Given the description of an element on the screen output the (x, y) to click on. 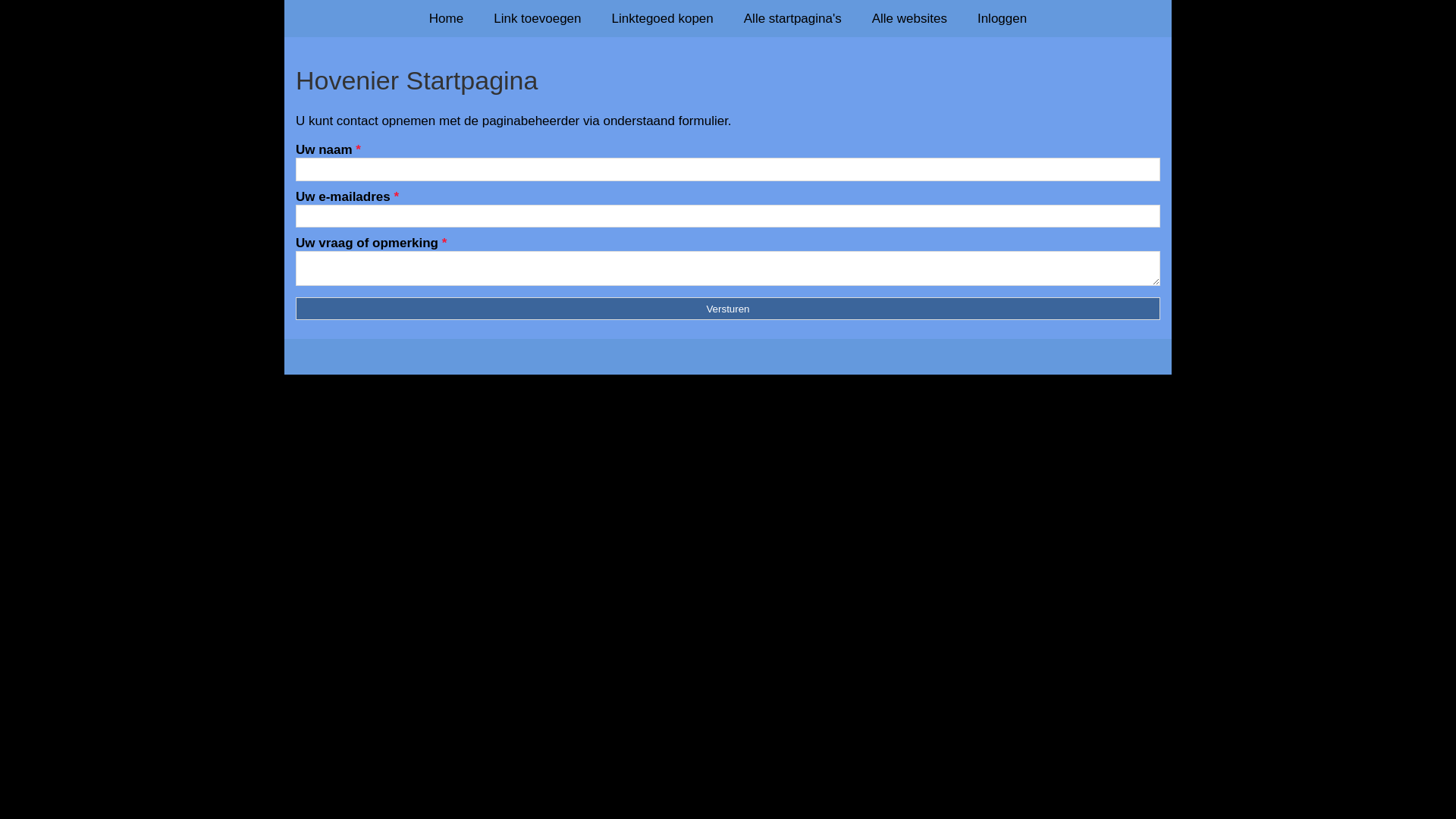
Linktegoed kopen Element type: text (662, 18)
Hovenier Startpagina Element type: text (727, 80)
Inloggen Element type: text (1001, 18)
Alle startpagina's Element type: text (792, 18)
Versturen Element type: text (727, 308)
Home Element type: text (446, 18)
Alle websites Element type: text (909, 18)
Link toevoegen Element type: text (537, 18)
